Given the description of an element on the screen output the (x, y) to click on. 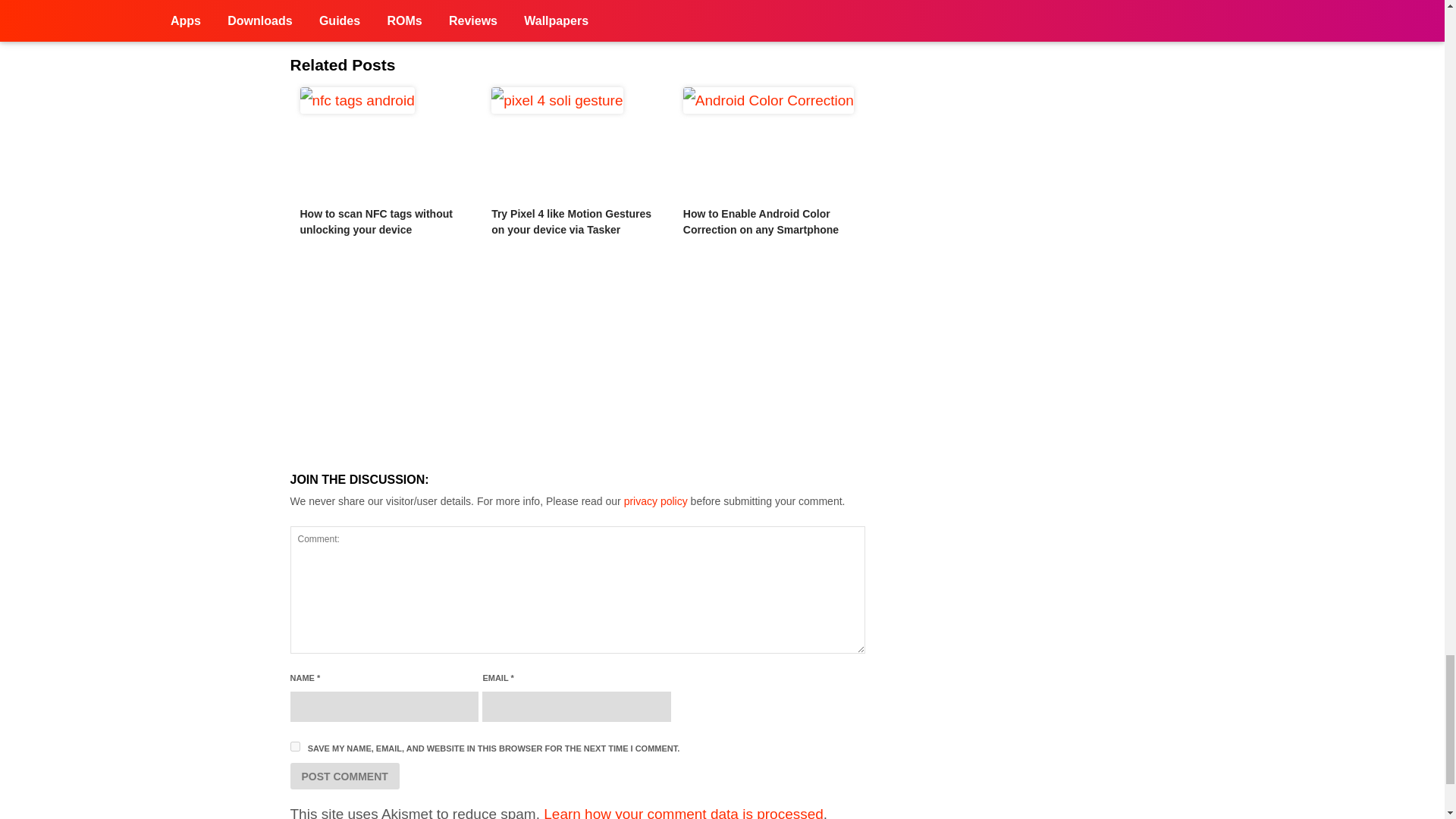
Try Pixel 4 like Motion Gestures on your device via Tasker (571, 221)
How to Enable Android Color Correction on any Smartphone (769, 142)
comment-policy-title (655, 500)
Post Comment (343, 775)
How to Enable Android Color Correction on any Smartphone (760, 221)
How to scan NFC tags without unlocking your device (375, 221)
Try Pixel 4 like Motion Gestures on your device via Tasker (577, 142)
privacy policy (655, 500)
Learn how your comment data is processed (683, 812)
yes (294, 746)
